Given the description of an element on the screen output the (x, y) to click on. 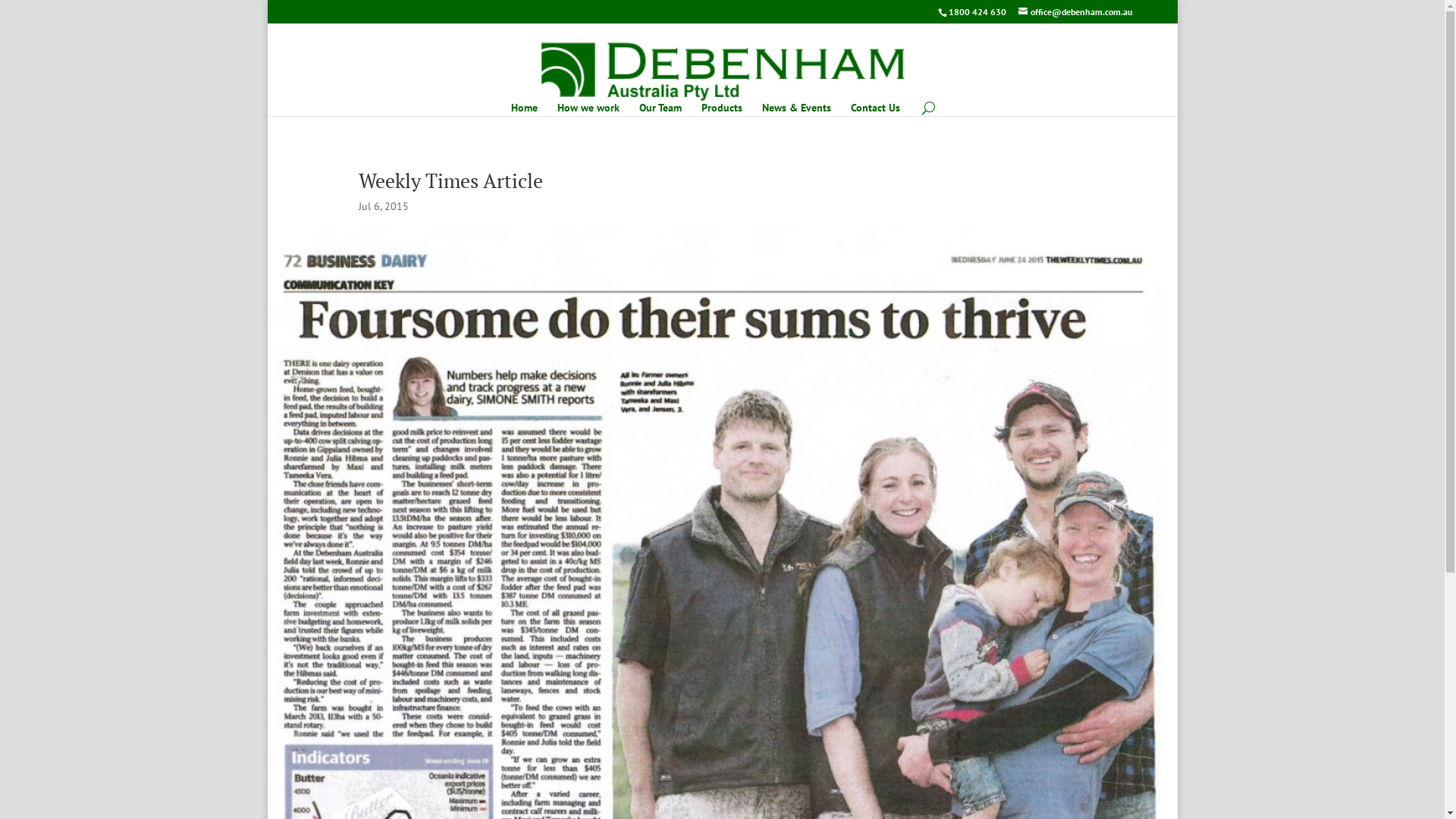
How we work Element type: text (588, 118)
office@debenham.com.au Element type: text (1074, 11)
Contact Us Element type: text (875, 118)
Home Element type: text (524, 118)
News & Events Element type: text (796, 118)
Products Element type: text (721, 118)
Our Team Element type: text (660, 118)
